Given the description of an element on the screen output the (x, y) to click on. 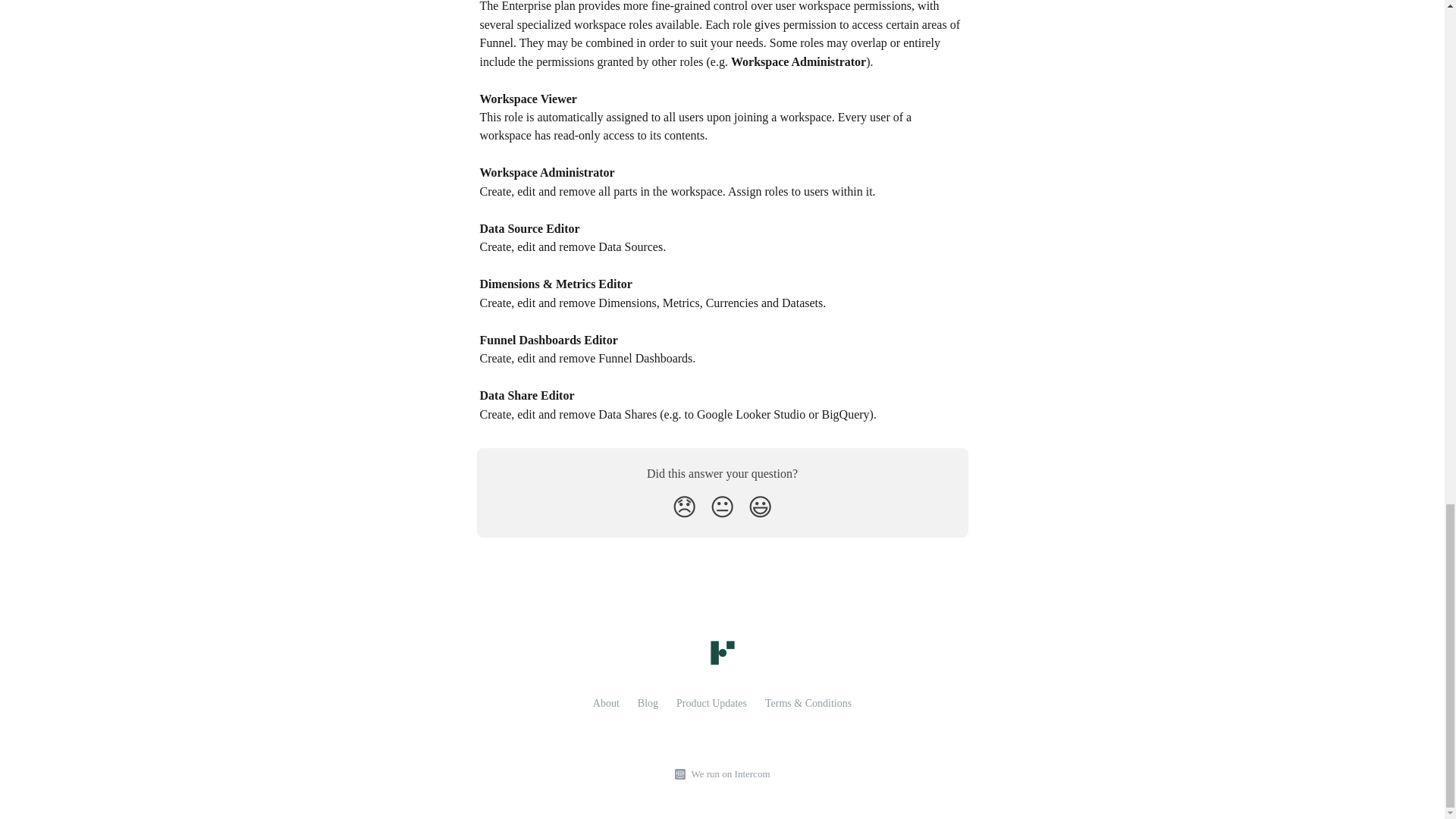
Neutral (722, 506)
Product Updates (711, 703)
Disappointed (684, 506)
About (606, 703)
We run on Intercom (727, 774)
Smiley (760, 506)
Blog (647, 703)
